Given the description of an element on the screen output the (x, y) to click on. 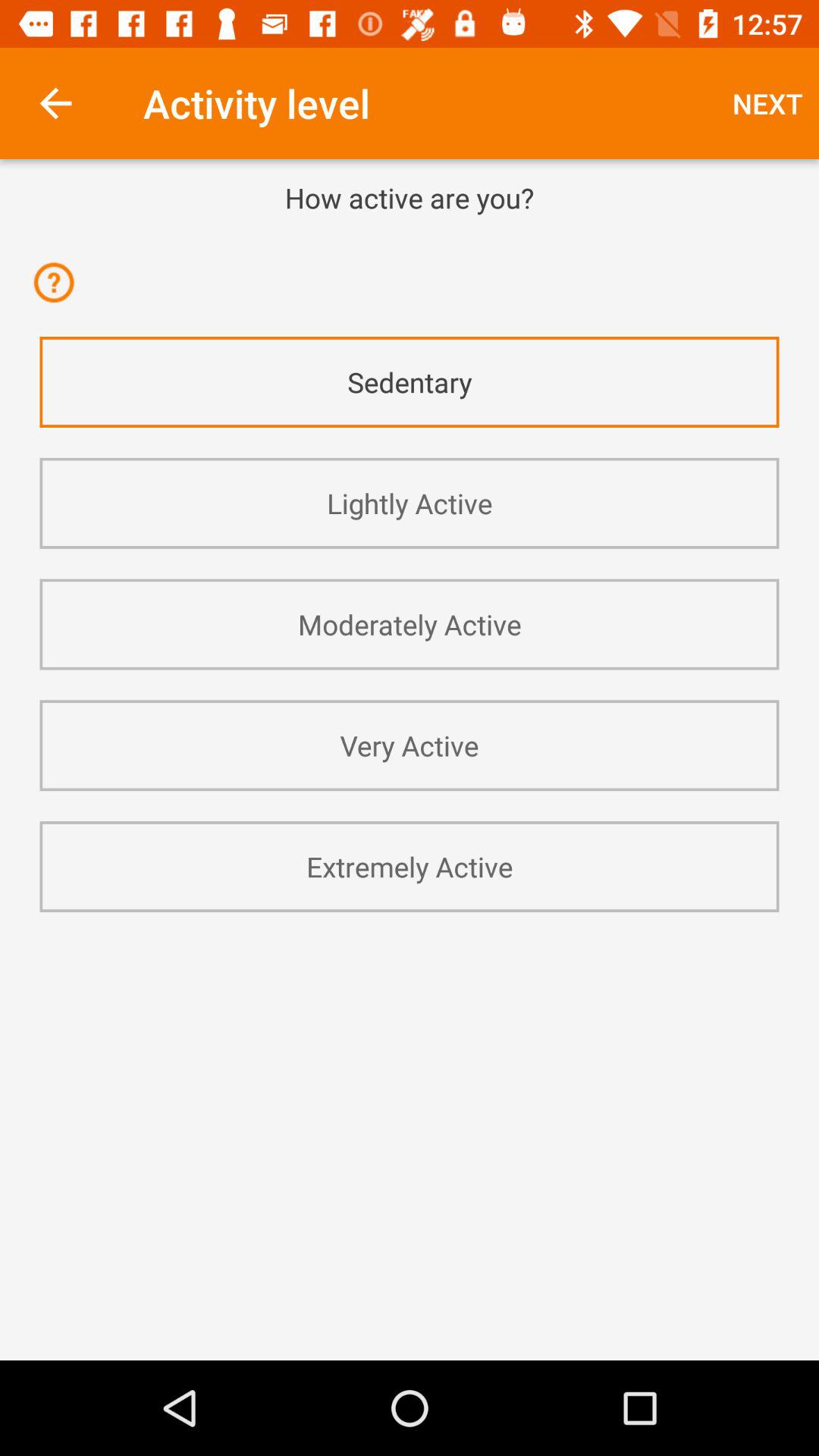
select icon next to the activity level item (55, 103)
